Given the description of an element on the screen output the (x, y) to click on. 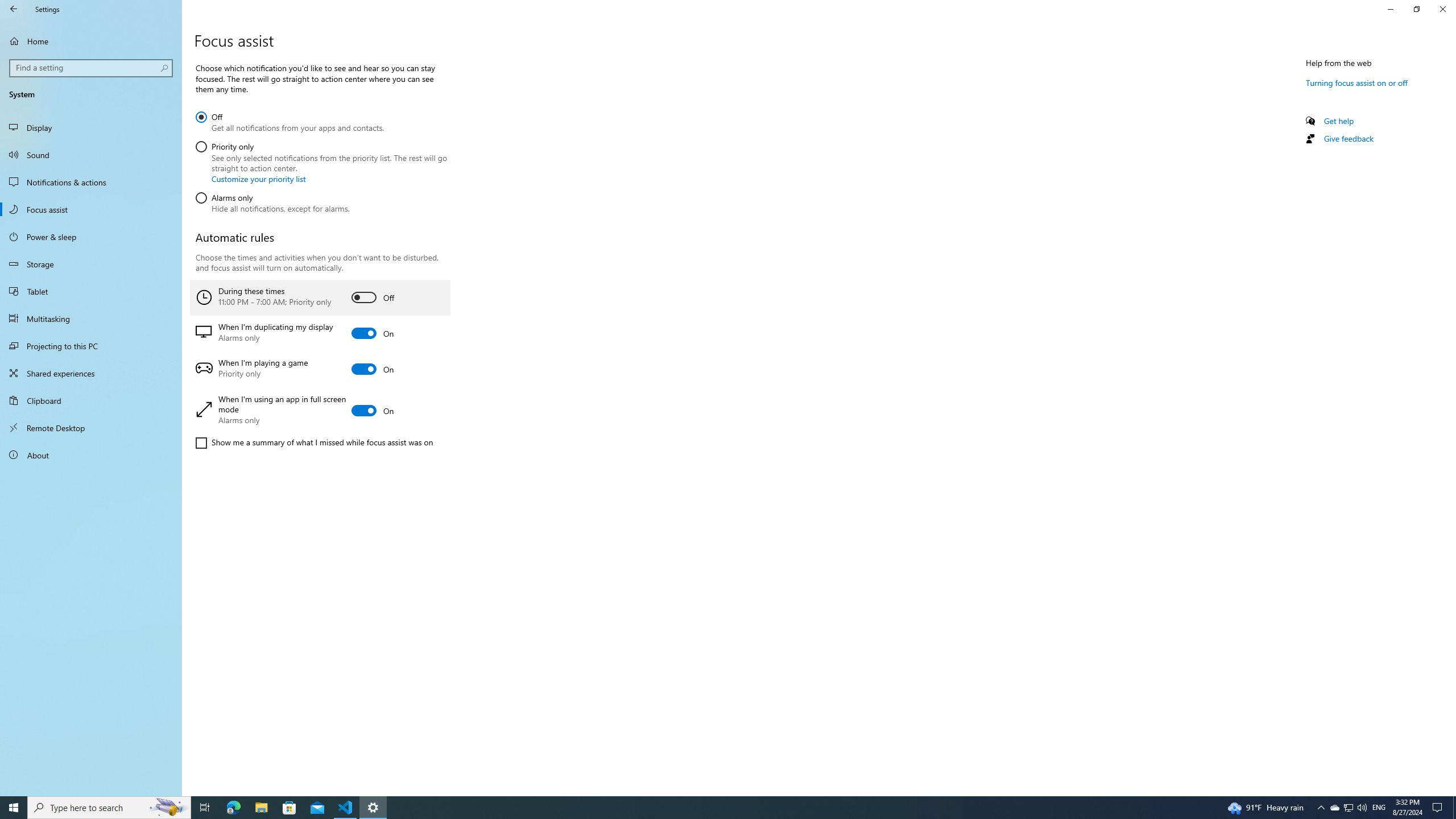
When I'm duplicating my display (319, 333)
Tray Input Indicator - English (United States) (1378, 807)
Search highlights icon opens search home window (167, 807)
Search box, Find a setting (91, 67)
Sound (91, 154)
Task View (1333, 807)
Tablet (204, 807)
Power & sleep (91, 290)
Show me a summary of what I missed while focus assist was on (91, 236)
Running applications (314, 443)
Q2790: 100% (706, 807)
Type here to search (1361, 807)
Shared experiences (108, 807)
